Given the description of an element on the screen output the (x, y) to click on. 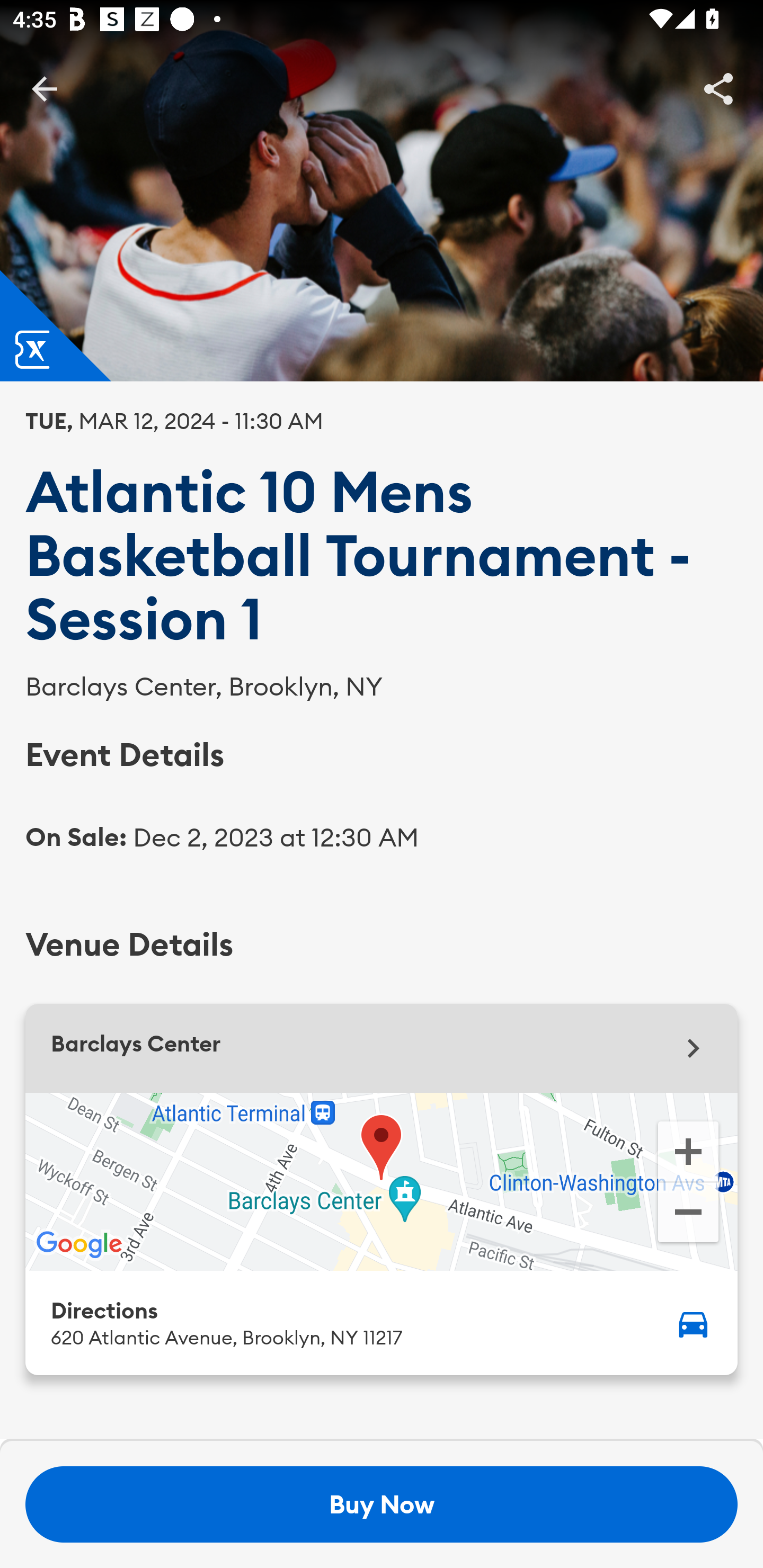
BackButton (44, 88)
Share (718, 88)
Barclays Center (381, 1047)
Google Map Barclays Center.  Zoom in Zoom out (381, 1181)
Zoom in (687, 1149)
Zoom out (687, 1214)
Directions 620 Atlantic Avenue, Brooklyn, NY 11217 (381, 1322)
Buy Now (381, 1504)
